Given the description of an element on the screen output the (x, y) to click on. 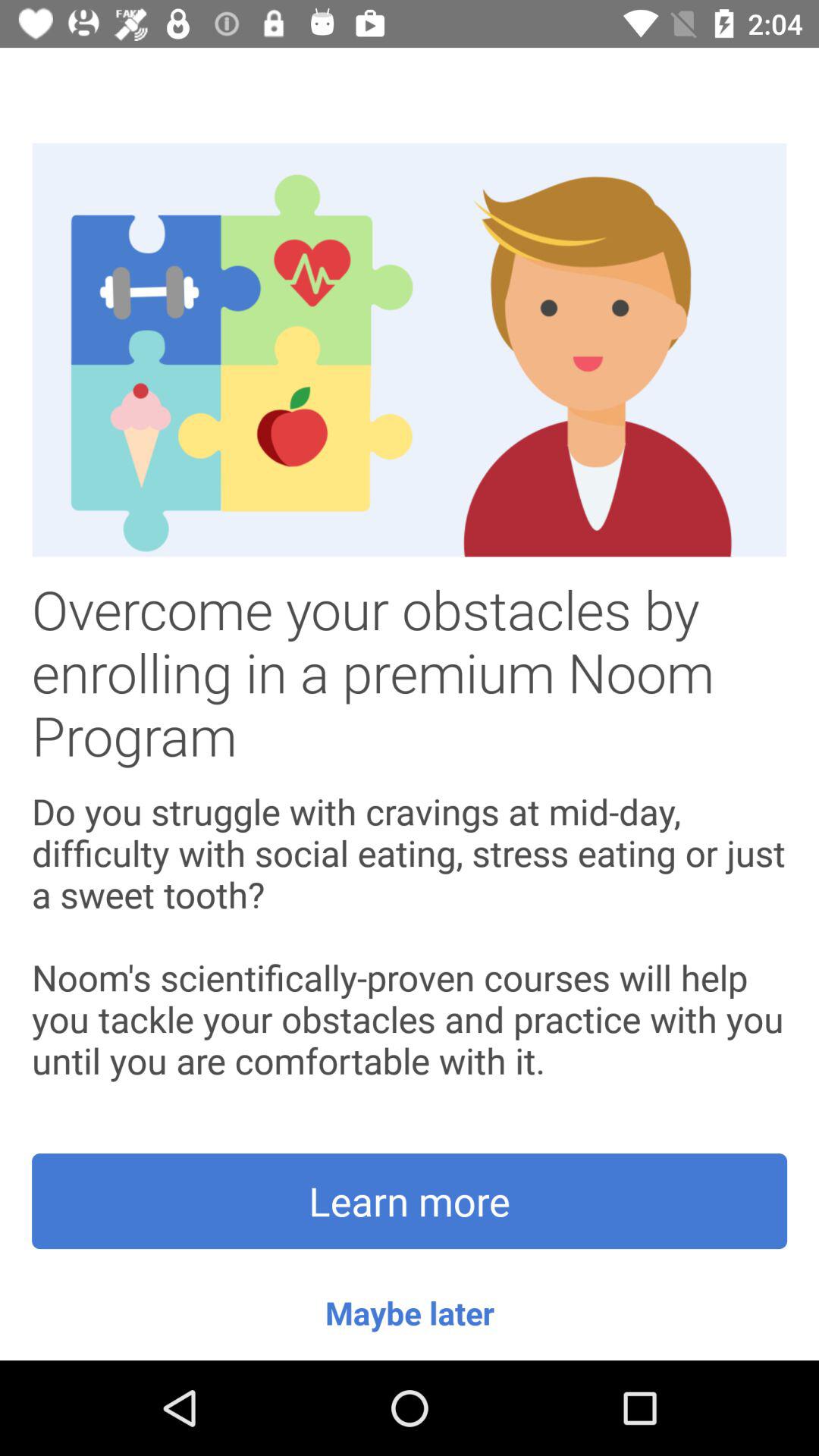
open the item below learn more icon (409, 1312)
